Given the description of an element on the screen output the (x, y) to click on. 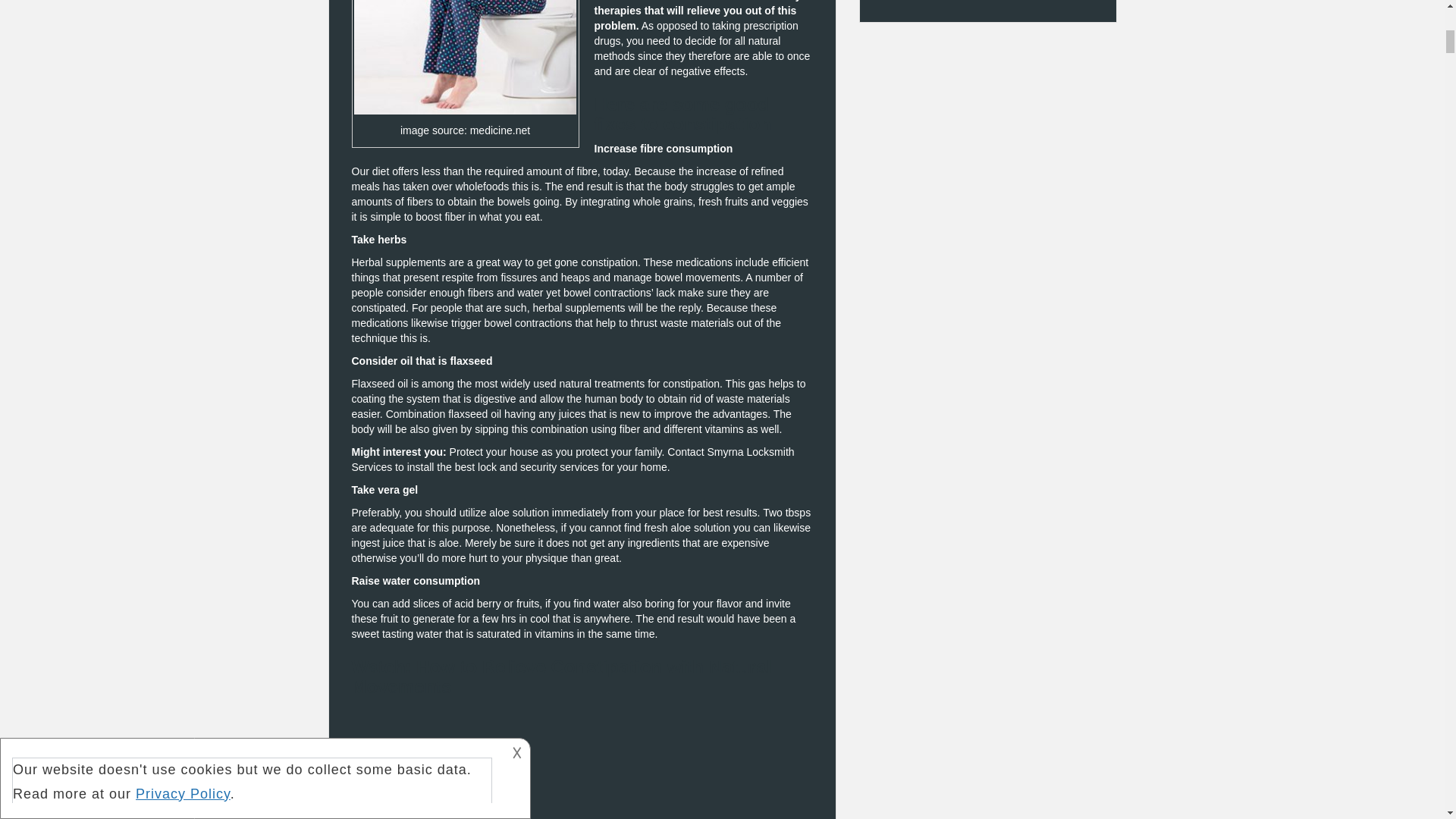
How to Relieve Constipation with Natural Movements (582, 762)
